Given the description of an element on the screen output the (x, y) to click on. 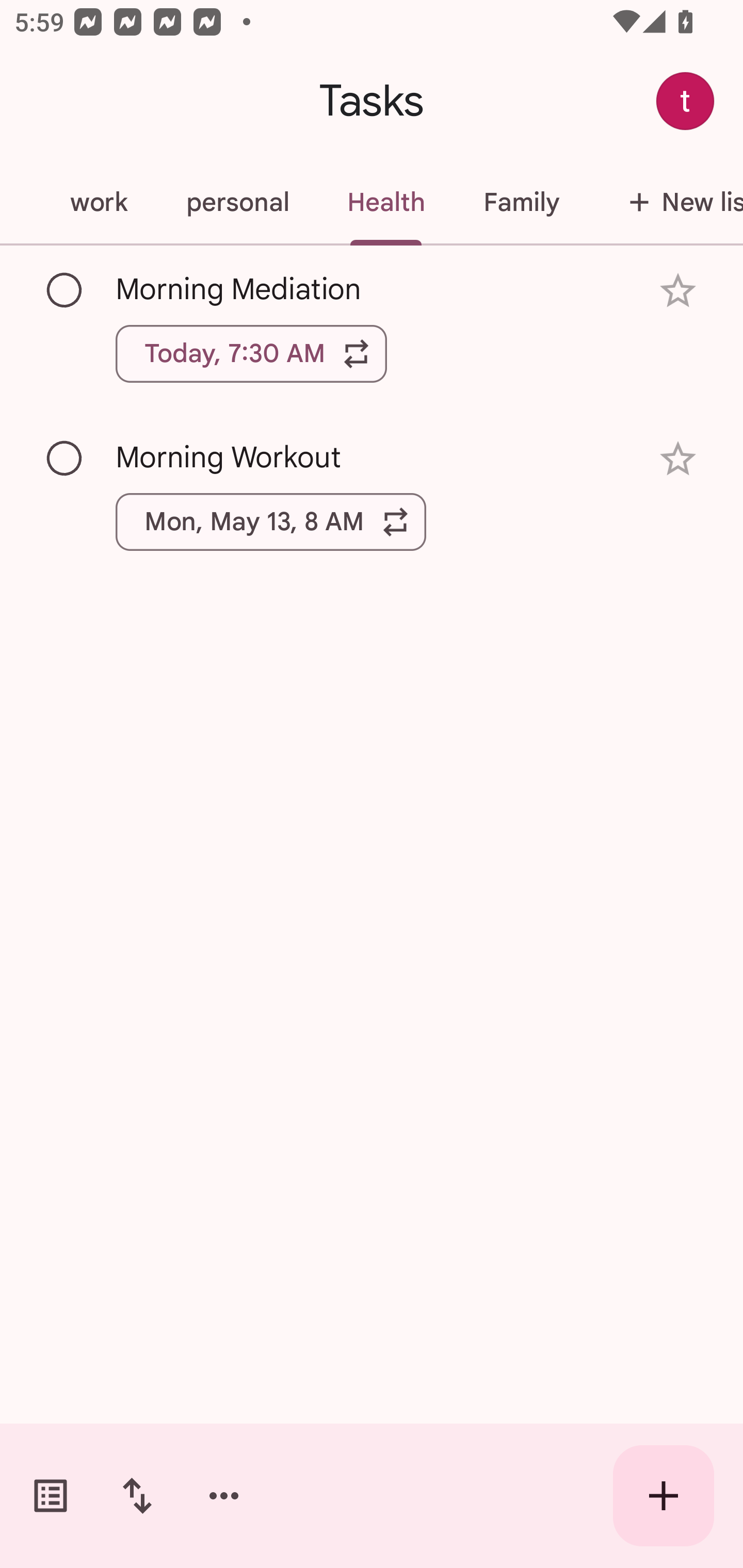
work (98, 202)
personal (237, 202)
Family (520, 202)
New list (665, 202)
Add star (677, 290)
Mark as complete (64, 290)
Today, 7:30 AM (251, 353)
Add star (677, 458)
Mark as complete (64, 459)
Mon, May 13, 8 AM (270, 522)
Switch task lists (50, 1495)
Create new task (663, 1495)
Change sort order (136, 1495)
More options (223, 1495)
